Given the description of an element on the screen output the (x, y) to click on. 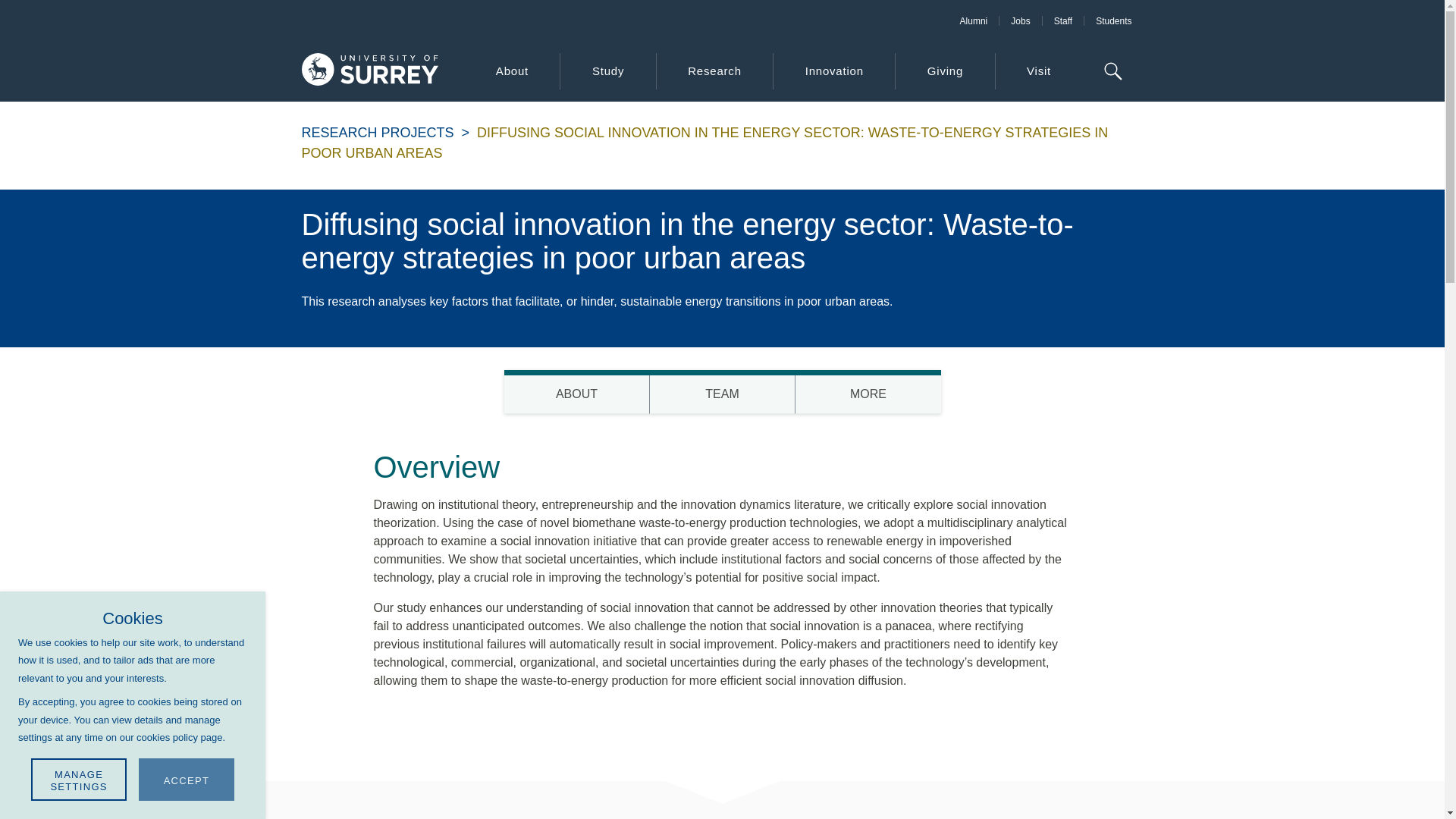
Staff (1062, 20)
Jobs (1019, 20)
ACCEPT (186, 779)
Students (1113, 20)
Home (721, 392)
Alumni (369, 71)
About (973, 20)
MANAGE SETTINGS (511, 71)
